Given the description of an element on the screen output the (x, y) to click on. 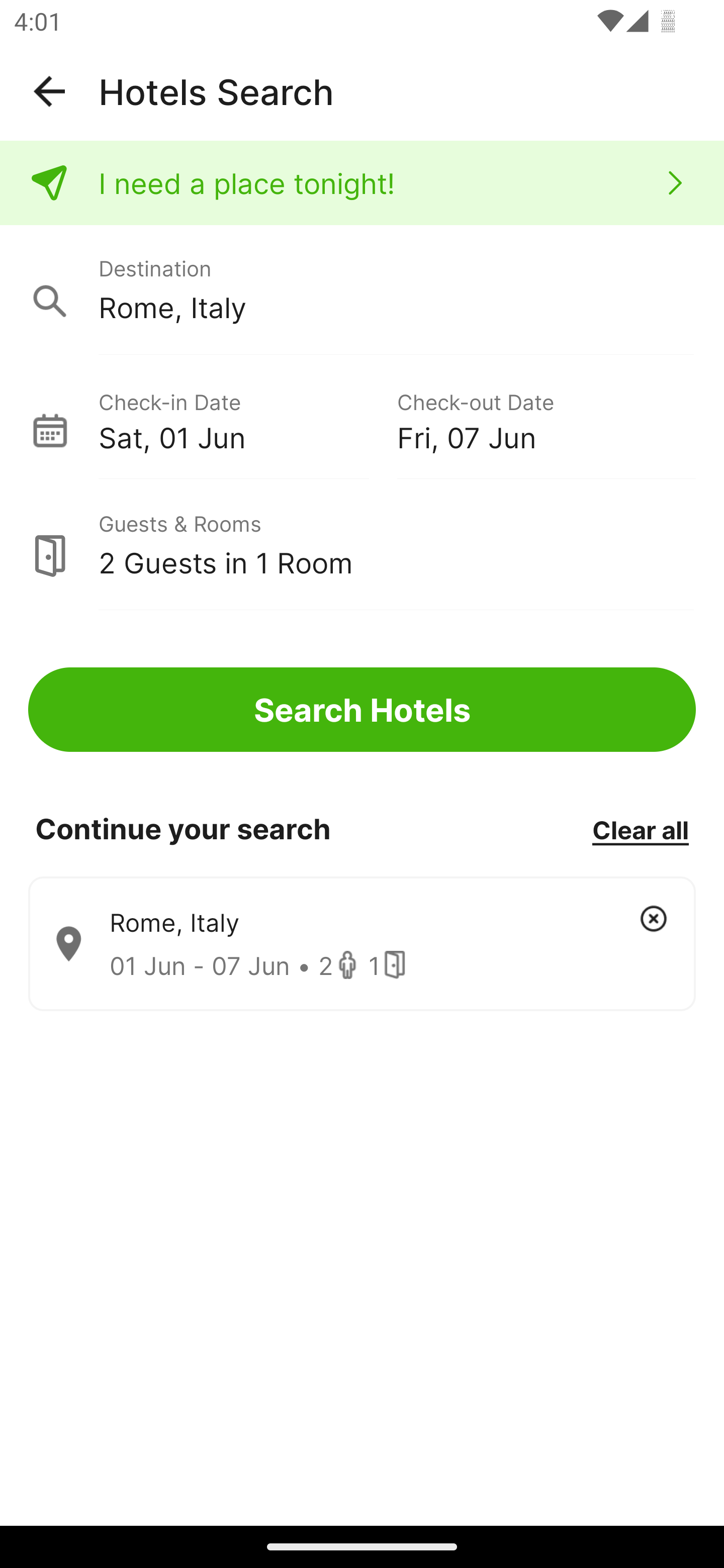
I need a place tonight! (362, 183)
Destination Rome, Italy (362, 290)
Check-in Date Sat, 01 Jun (247, 418)
Check-out Date Fri, 07 Jun (546, 418)
Guests & Rooms 2 Guests in 1 Room (362, 545)
Search Hotels (361, 709)
Clear all (640, 829)
Rome, Italy 01 Jun - 07 Jun • 2  1  (361, 943)
